Given the description of an element on the screen output the (x, y) to click on. 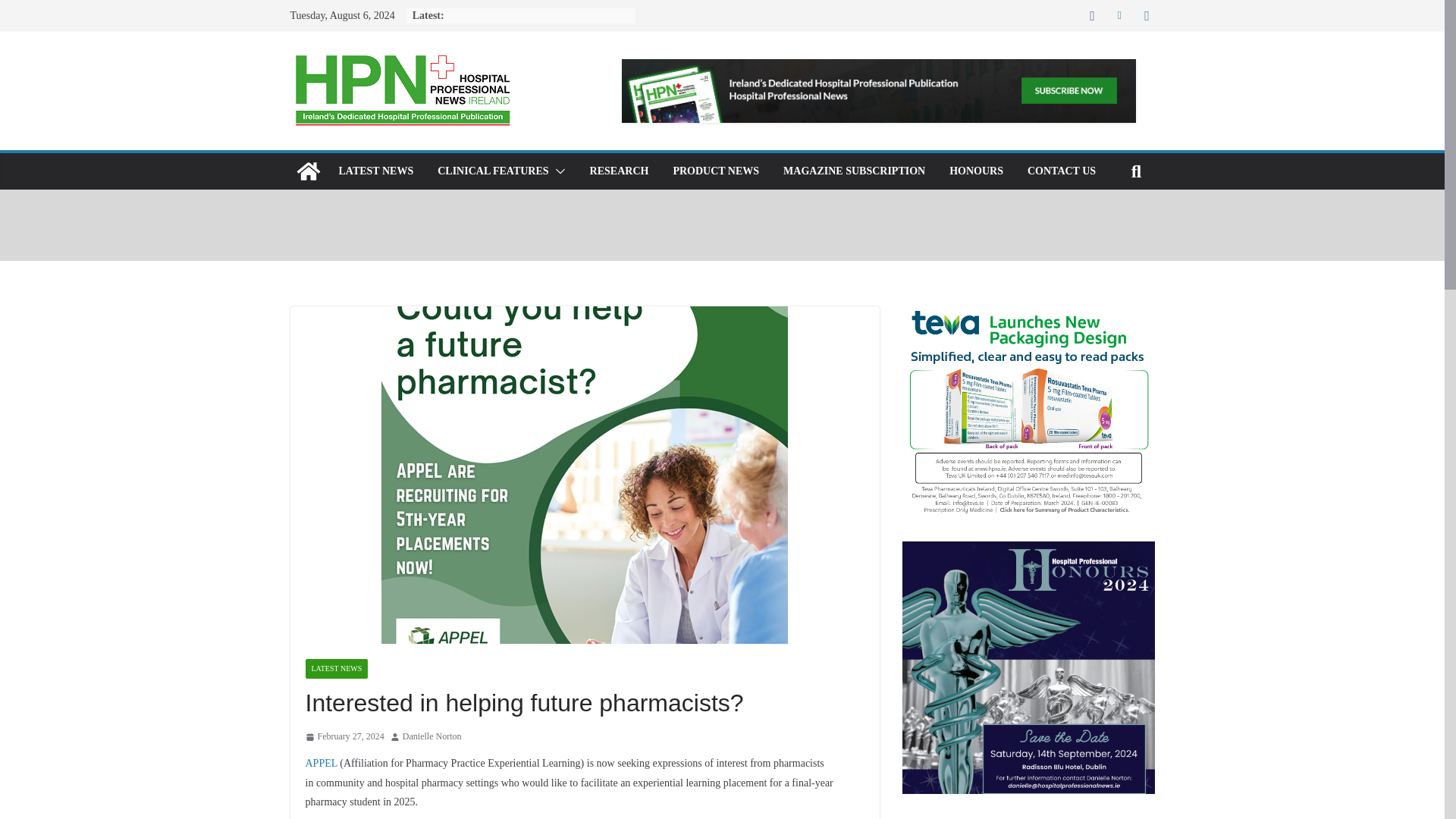
CLINICAL FEATURES (493, 170)
MAGAZINE SUBSCRIPTION (853, 170)
RESEARCH (619, 170)
PRODUCT NEWS (715, 170)
CONTACT US (1061, 170)
HONOURS (976, 170)
LATEST NEWS (375, 170)
Danielle Norton (432, 736)
APPEL (320, 763)
2:42 pm (344, 736)
